Given the description of an element on the screen output the (x, y) to click on. 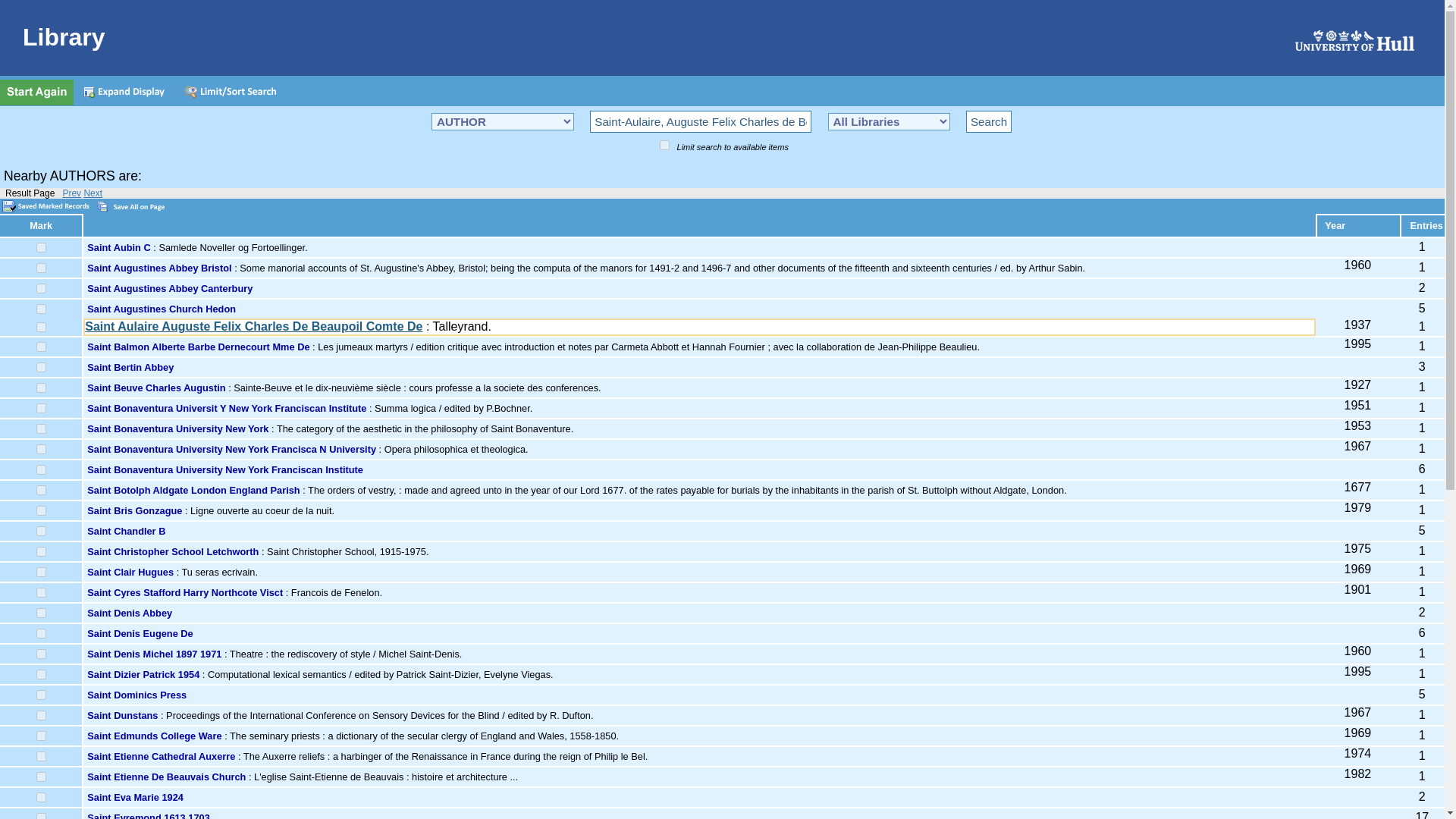
Library (727, 37)
Saint Bertin Abbey (130, 367)
Search (988, 121)
Saint Bonaventura University New York Franciscan Institute (224, 469)
Saint-Aulaire, Auguste Felix Charles de Beaupoil, comte de. (699, 121)
Prev (71, 193)
Saint Aulaire Auguste Felix Charles De Beaupoil Comte De (253, 326)
1 (664, 144)
Saint Bonaventura University New York (177, 428)
Saint Beuve Charles Augustin (156, 387)
Saint Bonaventura University New York Francisca N University (231, 449)
Saint Aubin C (118, 247)
Search (988, 121)
Saint Bonaventura Universit Y New York Franciscan Institute (226, 408)
Saint Augustines Abbey Canterbury (169, 288)
